Given the description of an element on the screen output the (x, y) to click on. 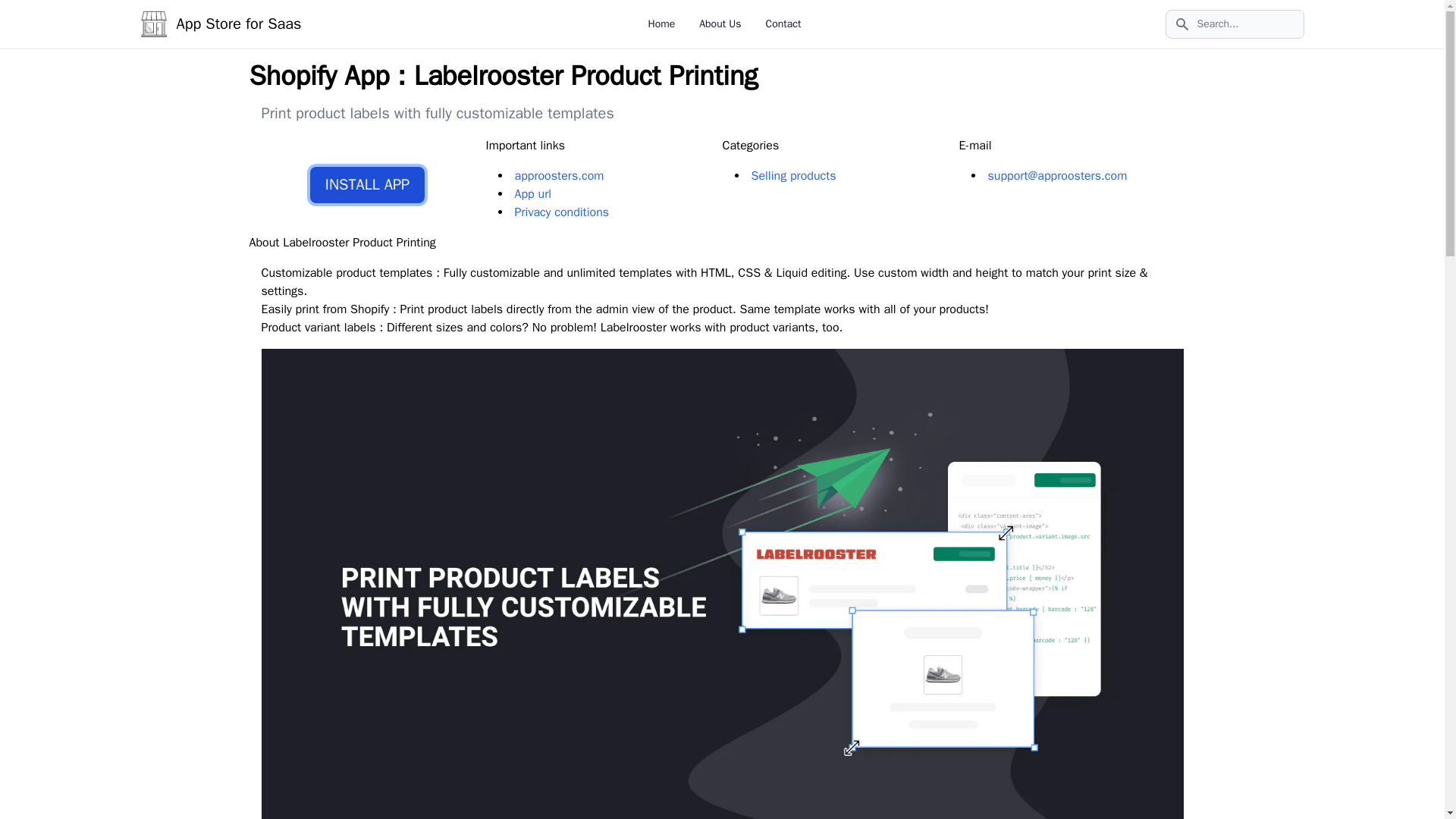
App Store for Saas (220, 23)
Privacy conditions (560, 212)
About Us (719, 23)
Contact (783, 23)
App url (532, 193)
approosters.com (558, 175)
INSTALL APP (367, 185)
Selling products (793, 175)
Home (661, 23)
